Given the description of an element on the screen output the (x, y) to click on. 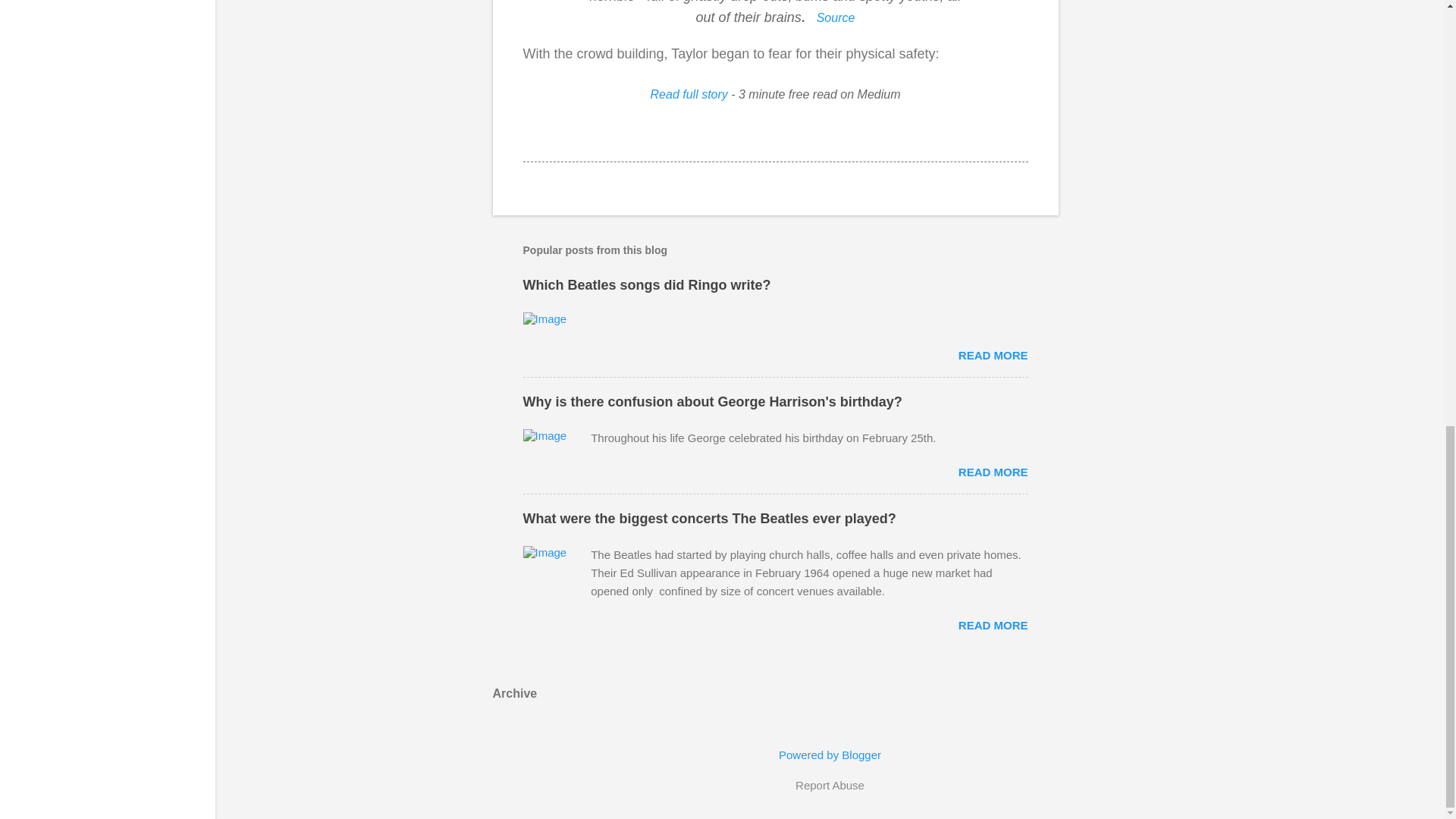
READ MORE (992, 472)
Which Beatles songs did Ringo write? (992, 354)
Read full story (689, 93)
Why is there confusion about George Harrison's birthday? (712, 401)
READ MORE (992, 354)
What were the biggest concerts The Beatles ever played? (992, 625)
READ MORE (992, 625)
Why is there confusion about George Harrison's birthday? (992, 472)
Source (836, 14)
Which Beatles songs did Ringo write? (646, 284)
